Given the description of an element on the screen output the (x, y) to click on. 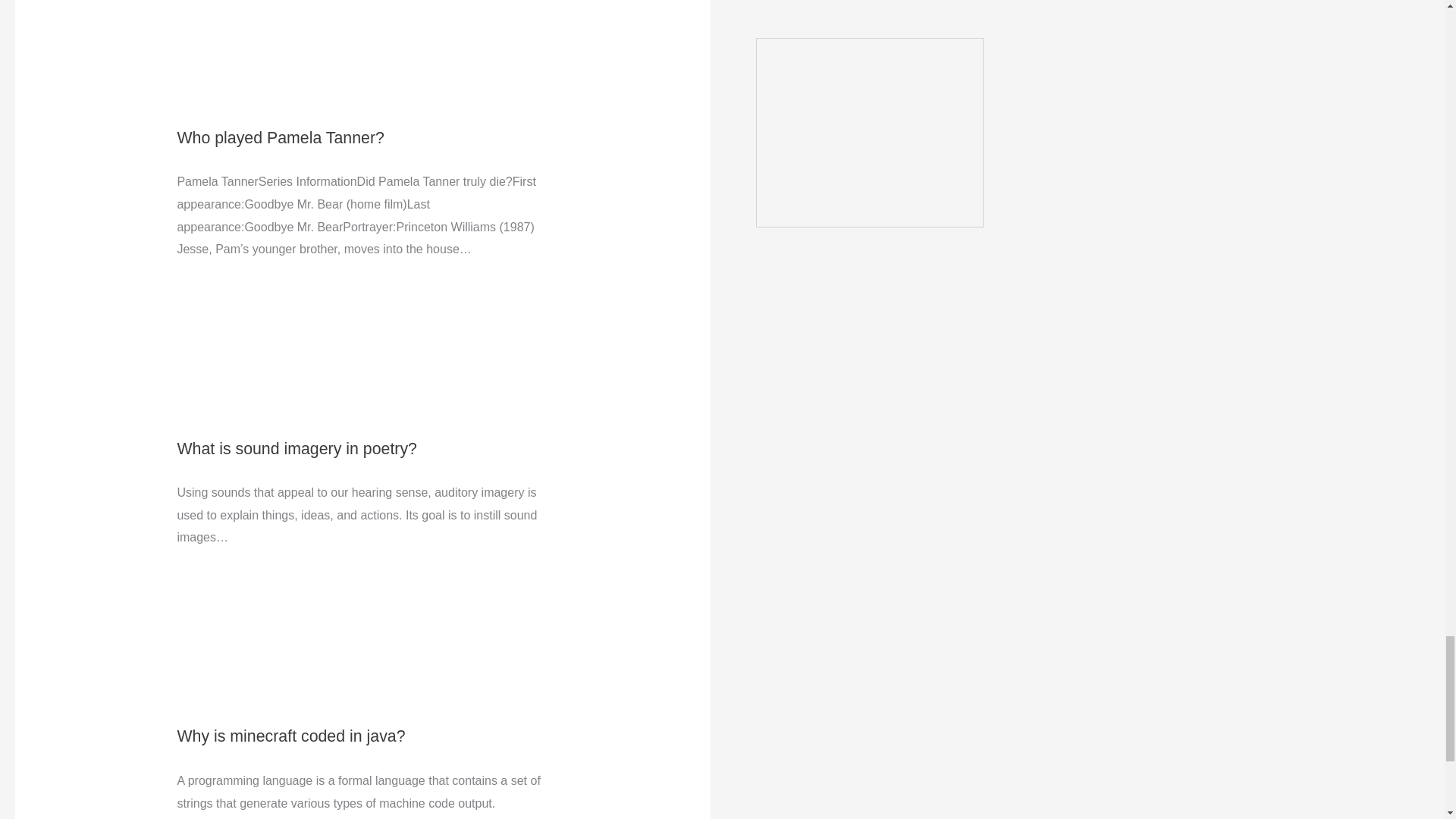
What is sound imagery in poetry? (296, 448)
Who played Pamela Tanner? (280, 137)
Why is minecraft coded in java? (290, 736)
